Given the description of an element on the screen output the (x, y) to click on. 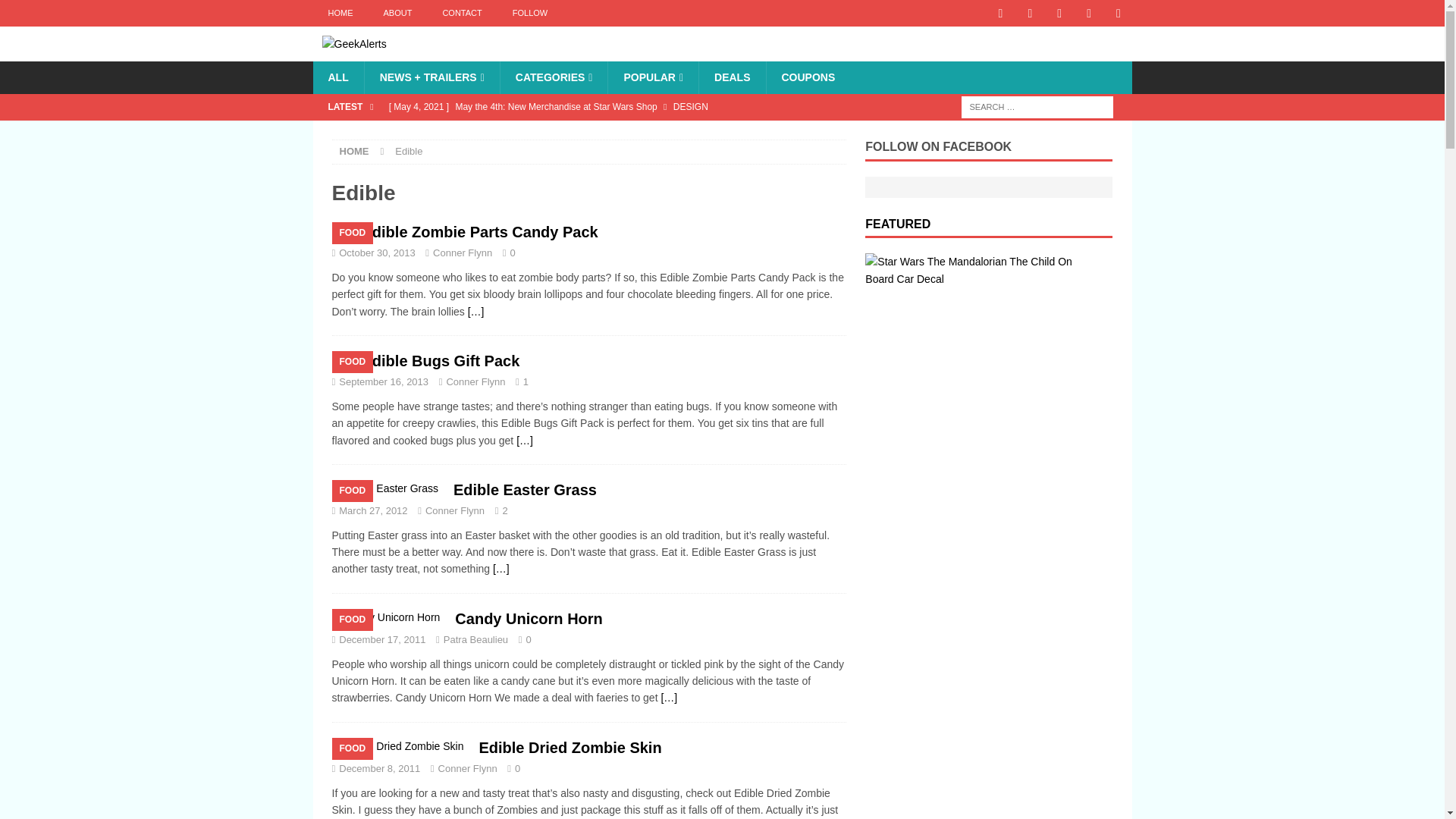
ABOUT (398, 13)
FOLLOW (529, 13)
ALL (337, 77)
HOME (354, 151)
Candy Unicorn Horn (528, 618)
Edible Easter Grass (501, 568)
HOME (340, 13)
Edible Zombie Parts Candy Pack (475, 311)
Edible Dried Zombie Skin (570, 747)
Rick and Morty Get Shwifty Bluetooth Speaker (612, 132)
